Given the description of an element on the screen output the (x, y) to click on. 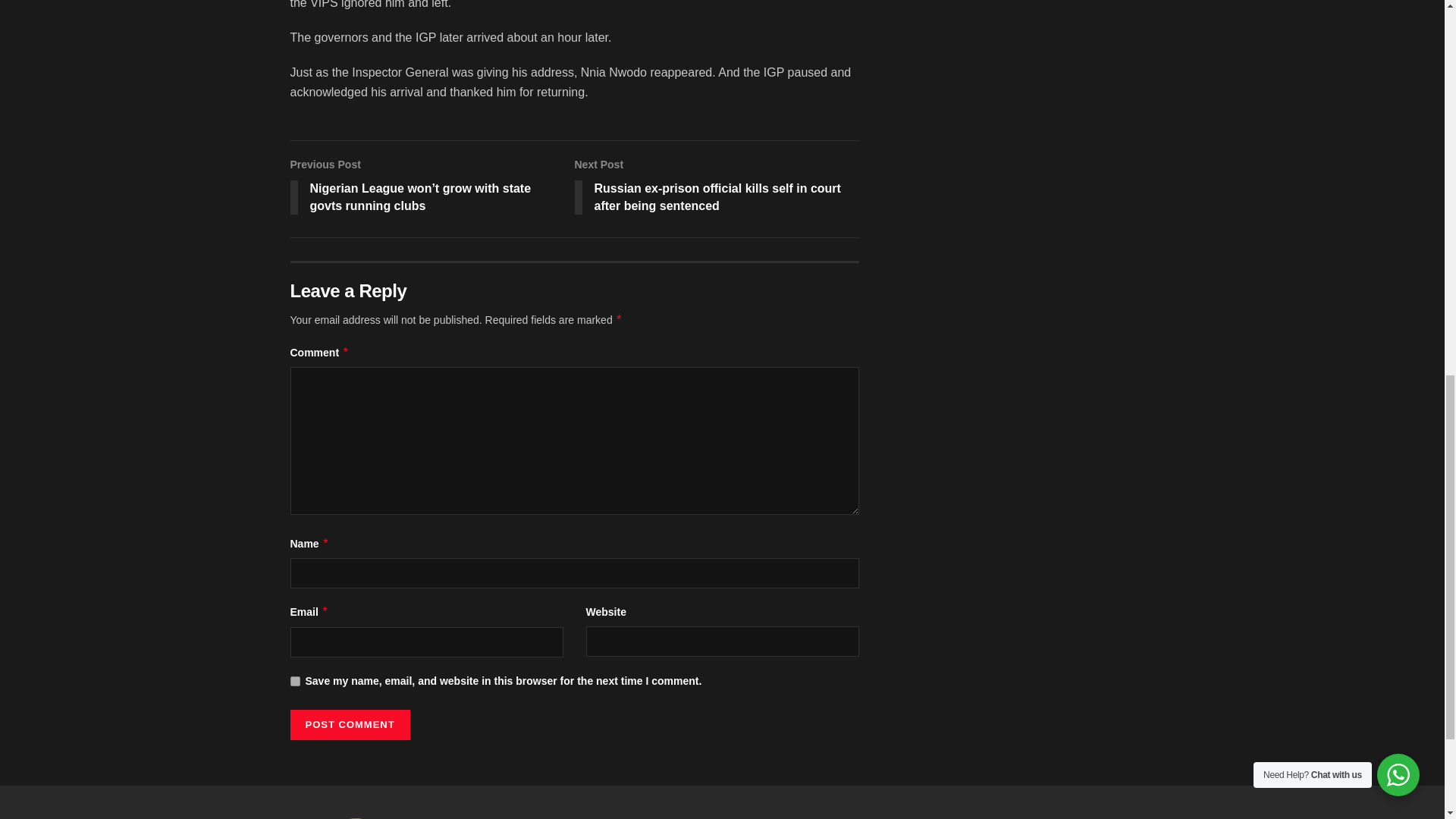
yes (294, 681)
Post Comment (349, 725)
